Given the description of an element on the screen output the (x, y) to click on. 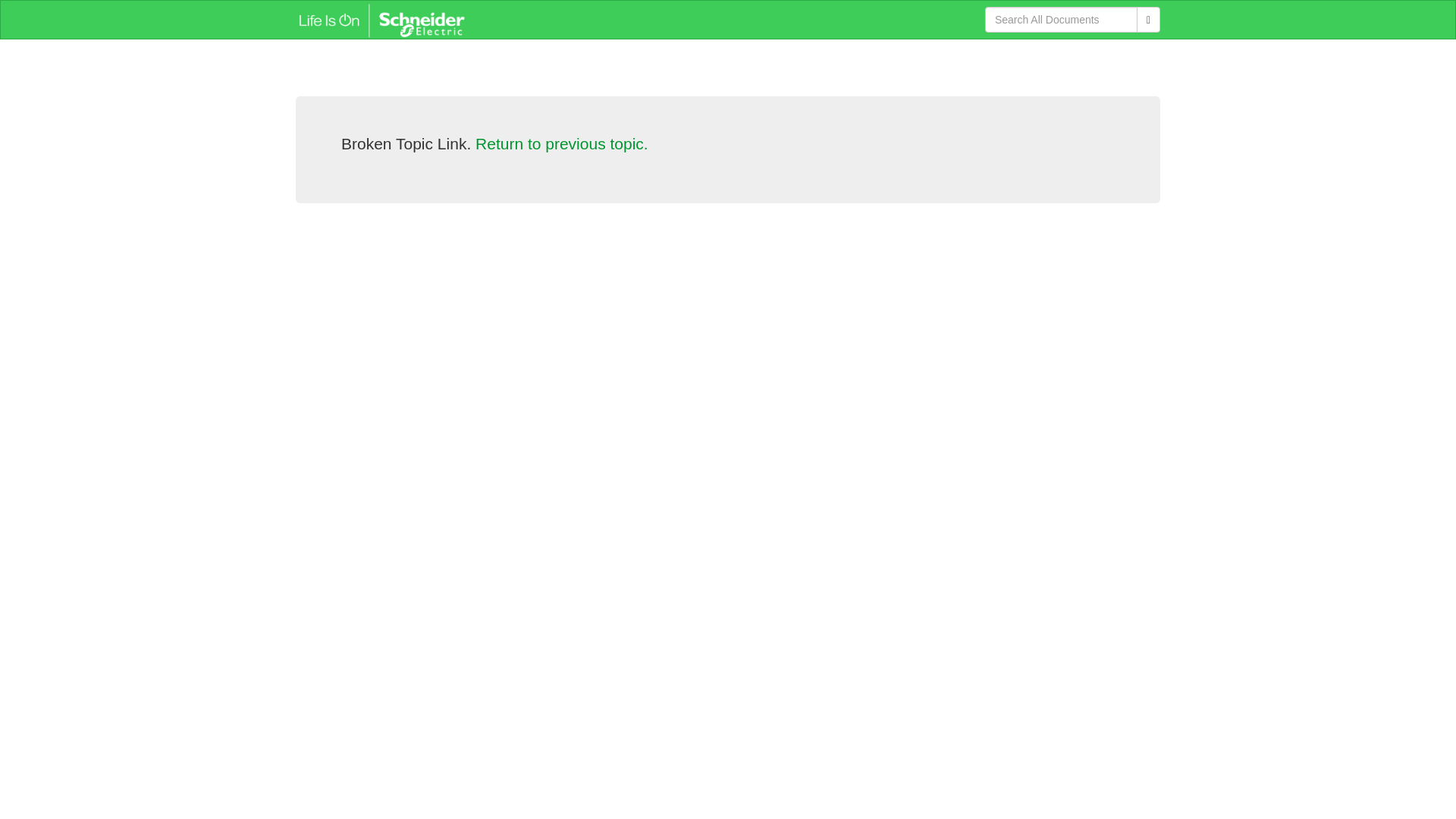
Return to previous topic. (561, 143)
